Given the description of an element on the screen output the (x, y) to click on. 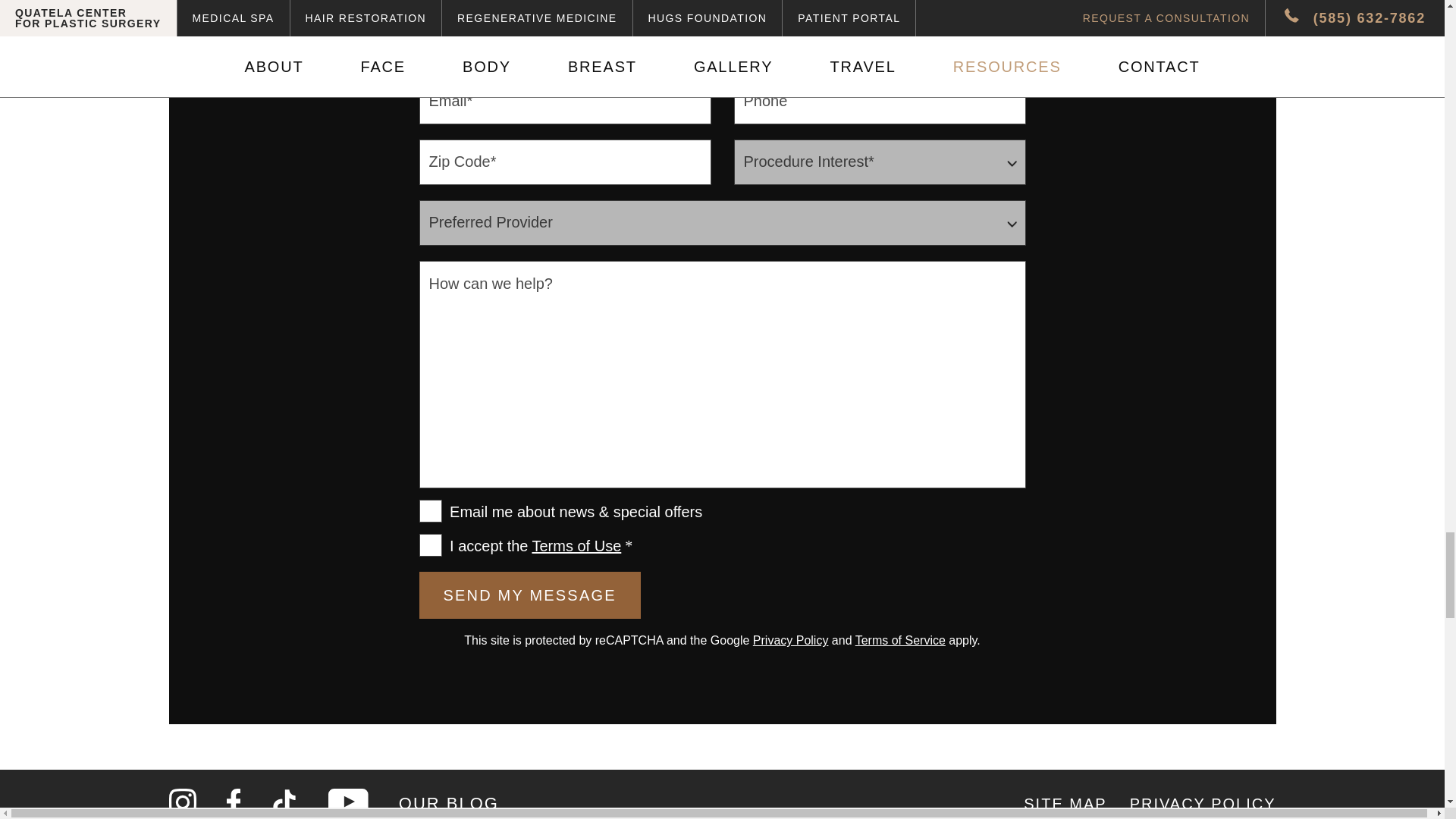
checked (430, 544)
checked (430, 510)
